Given the description of an element on the screen output the (x, y) to click on. 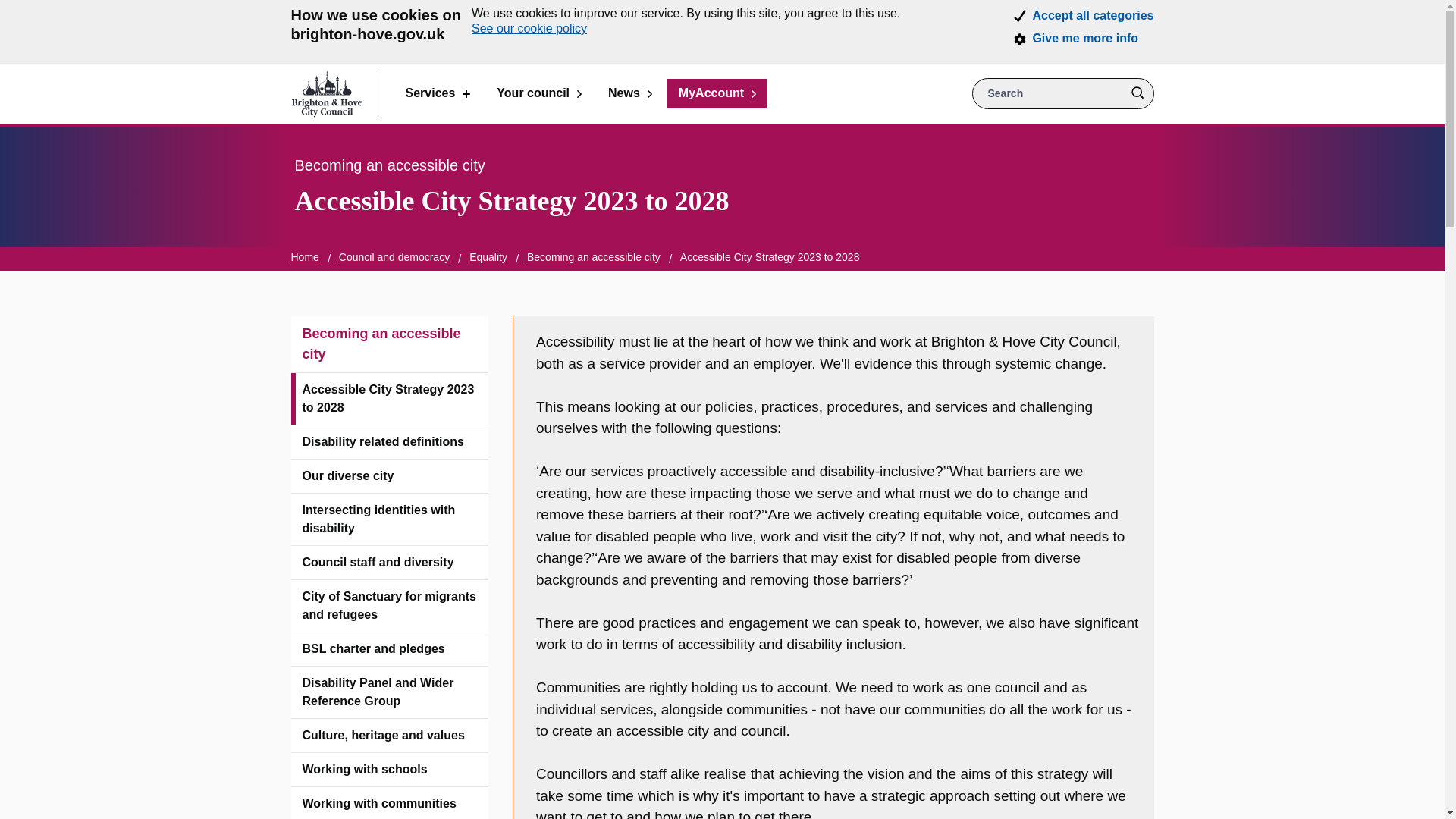
Enter the terms you wish to search for. (1063, 92)
MyAccount (716, 92)
Accept all categories (1092, 15)
Give me more info (1085, 38)
See our cookie policy (528, 28)
Skip to main content (11, 11)
News (629, 92)
Your council (538, 92)
Search (1137, 93)
